Given the description of an element on the screen output the (x, y) to click on. 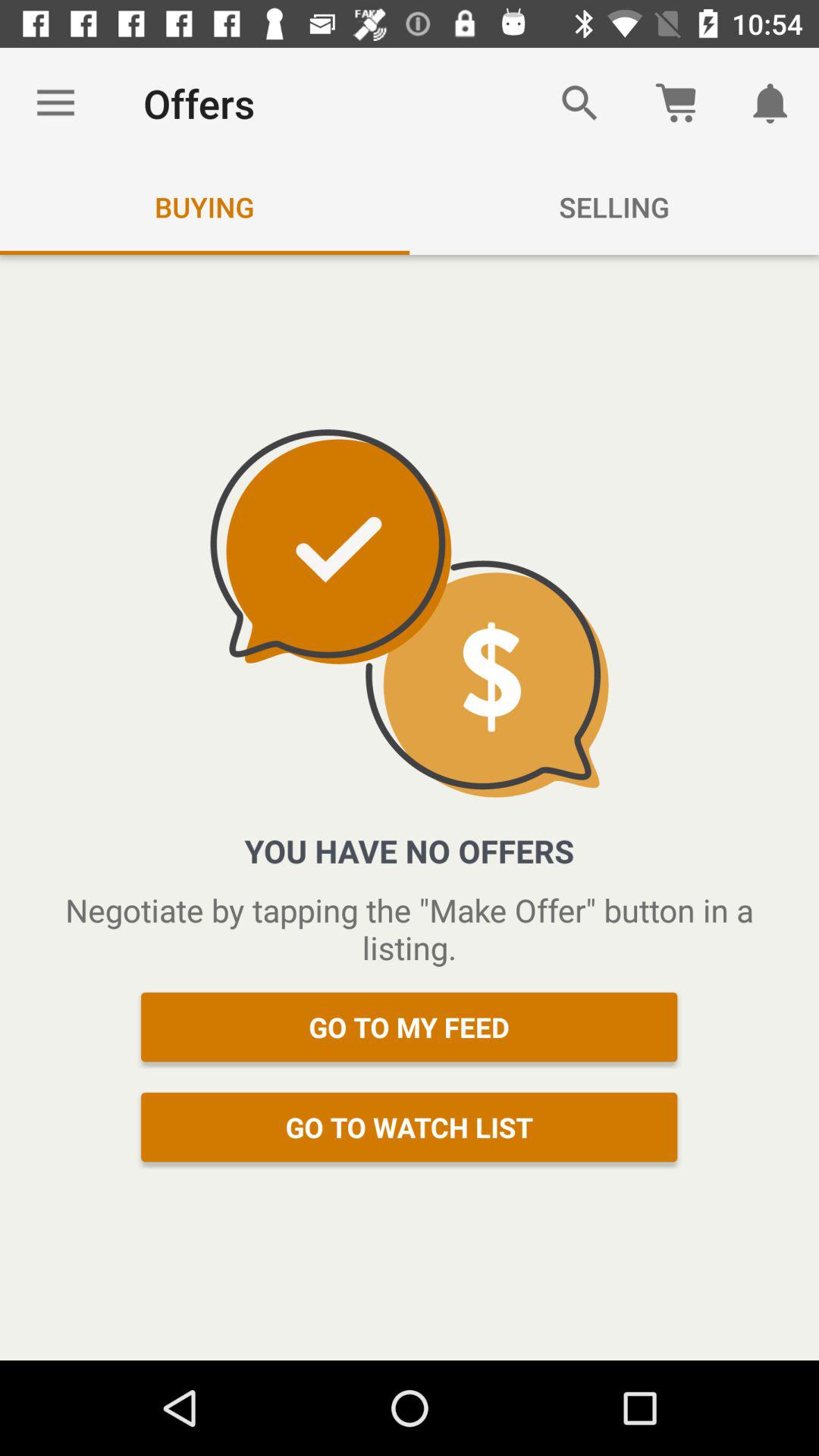
click the icon to the left of the offers icon (55, 103)
